Given the description of an element on the screen output the (x, y) to click on. 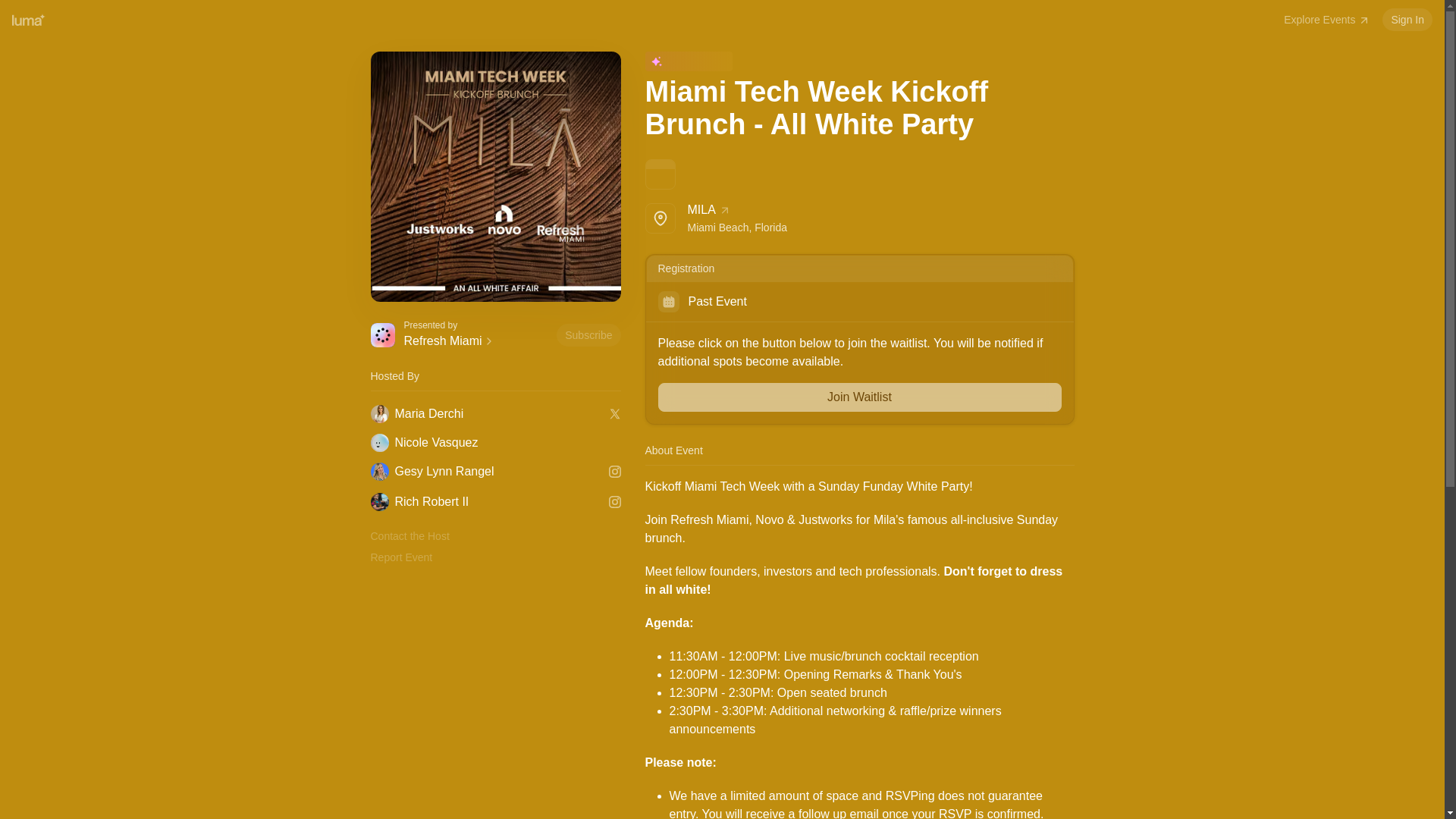
Rich Robert II (485, 502)
Sign In (1406, 19)
Refresh Miami (859, 217)
Subscribe (476, 341)
Nicole Vasquez (588, 334)
Maria Derchi (494, 443)
Gesy Lynn Rangel (485, 413)
Join Waitlist (485, 471)
Report Event (859, 397)
